Given the description of an element on the screen output the (x, y) to click on. 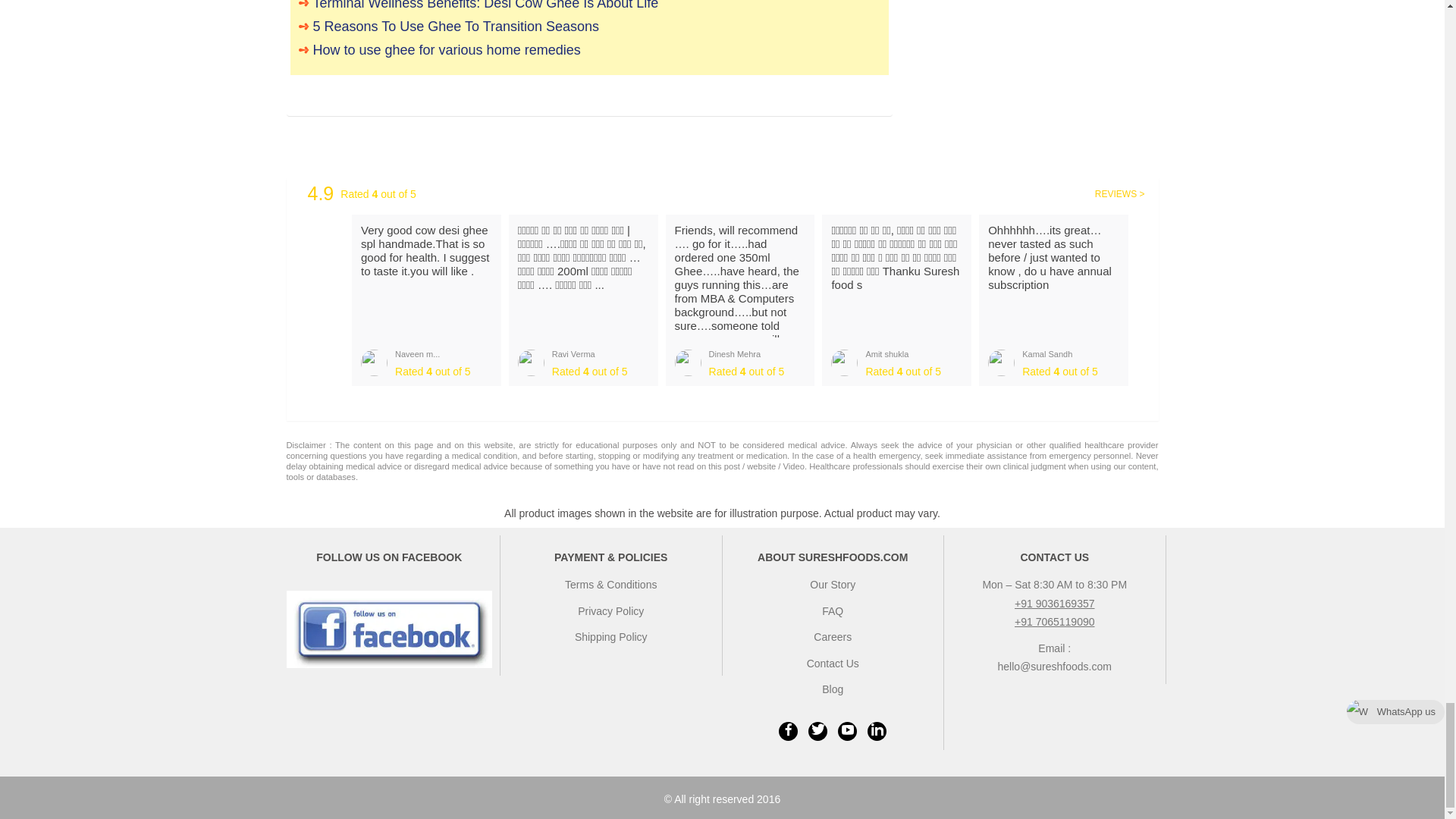
5 Reasons To Use Ghee To Transition Seasons (589, 26)
Our Story (832, 584)
Blog (832, 689)
Privacy Policy (610, 611)
Follow Us on Facebook (389, 628)
Terminal Wellness Benefits: Desi Cow Ghee Is About Life (589, 6)
Careers (832, 636)
Shipping Policy (611, 636)
FAQ (832, 611)
Contact Us (832, 663)
